Given the description of an element on the screen output the (x, y) to click on. 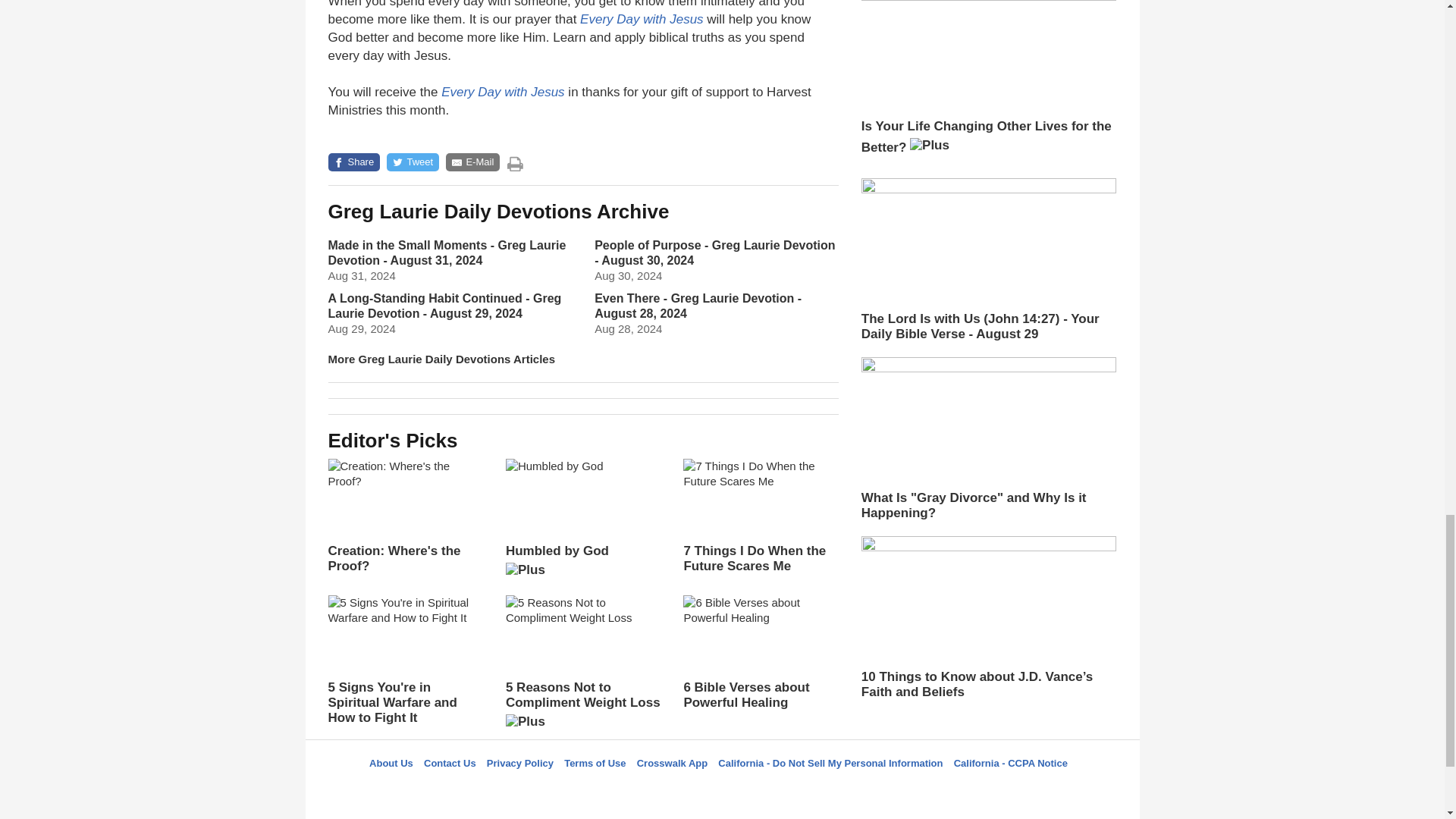
LifeAudio (719, 790)
6 Bible Verses about Powerful Healing (760, 652)
Creation: Where's the Proof? (404, 516)
Humbled by God (583, 523)
7 Things I Do When the Future Scares Me (760, 516)
5 Reasons Not to Compliment Weight Loss (583, 667)
Pinterest (757, 790)
5 Signs You're in Spiritual Warfare and How to Fight It (404, 660)
Twitter (683, 790)
Facebook (645, 790)
